Given the description of an element on the screen output the (x, y) to click on. 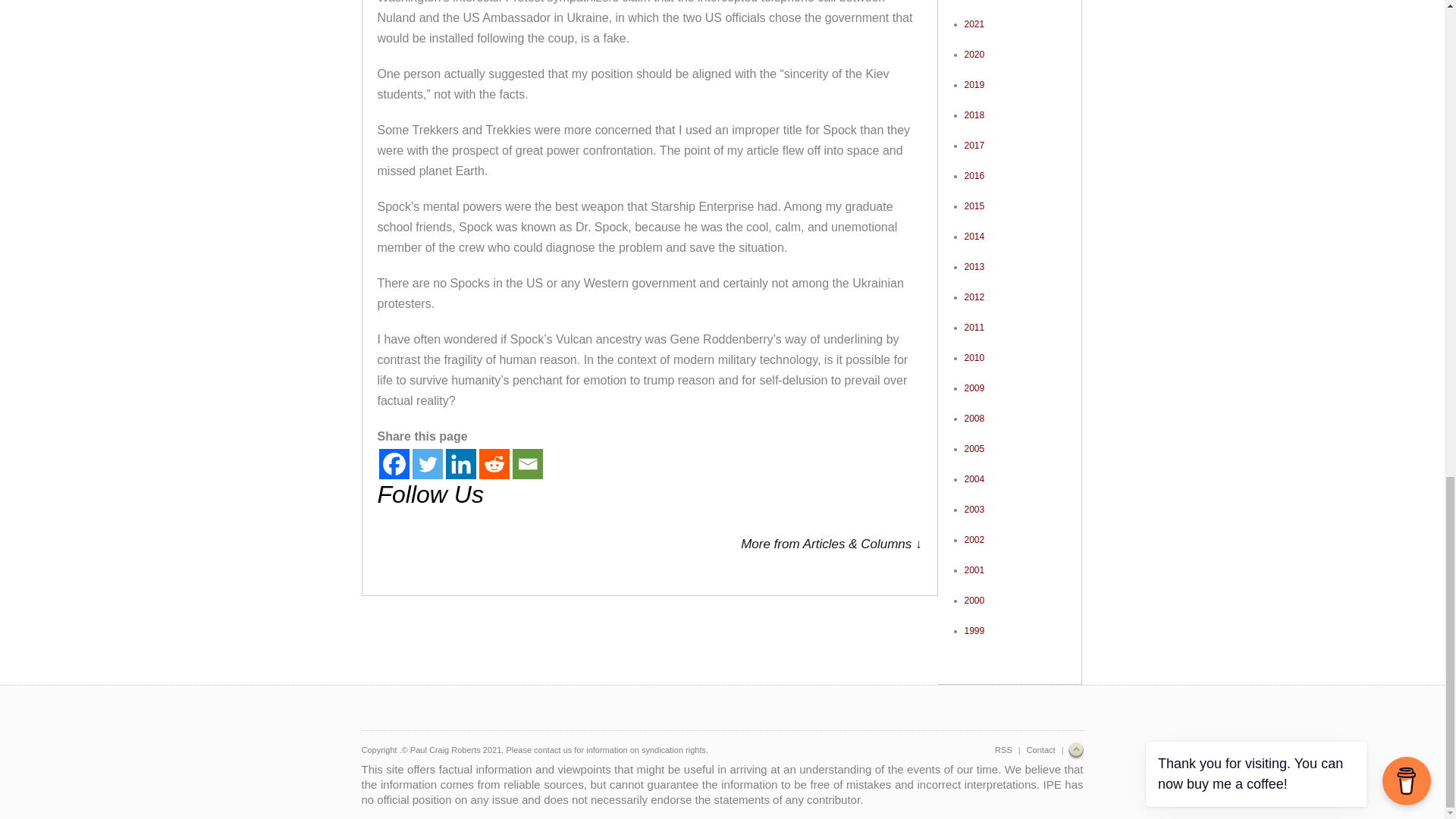
Reddit (494, 463)
Email (527, 463)
Twitter (427, 463)
Linkedin (460, 463)
Facebook (393, 463)
